Given the description of an element on the screen output the (x, y) to click on. 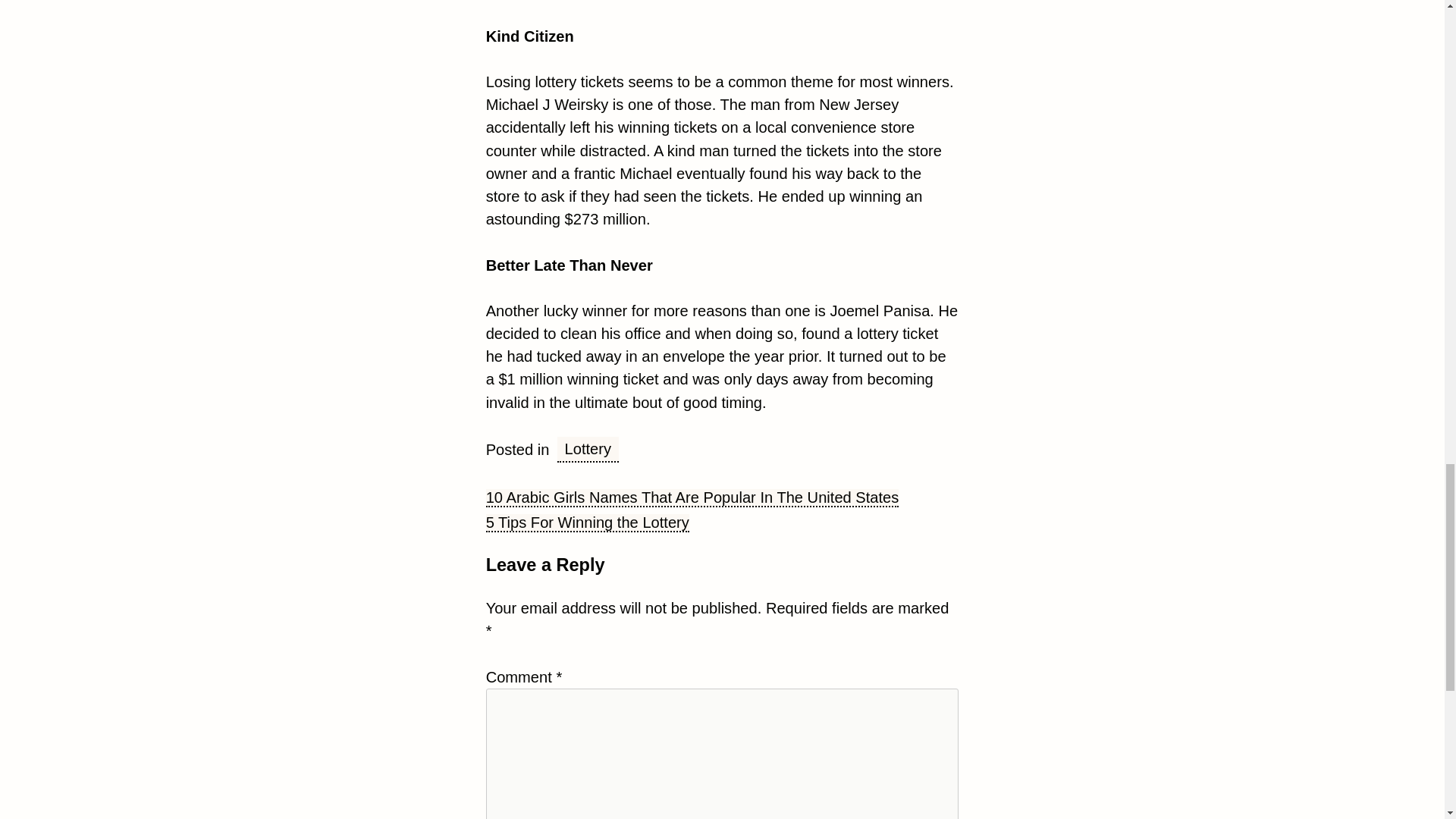
5 Tips For Winning the Lottery (587, 523)
10 Arabic Girls Names That Are Popular In The United States (692, 497)
Lottery (588, 449)
